Given the description of an element on the screen output the (x, y) to click on. 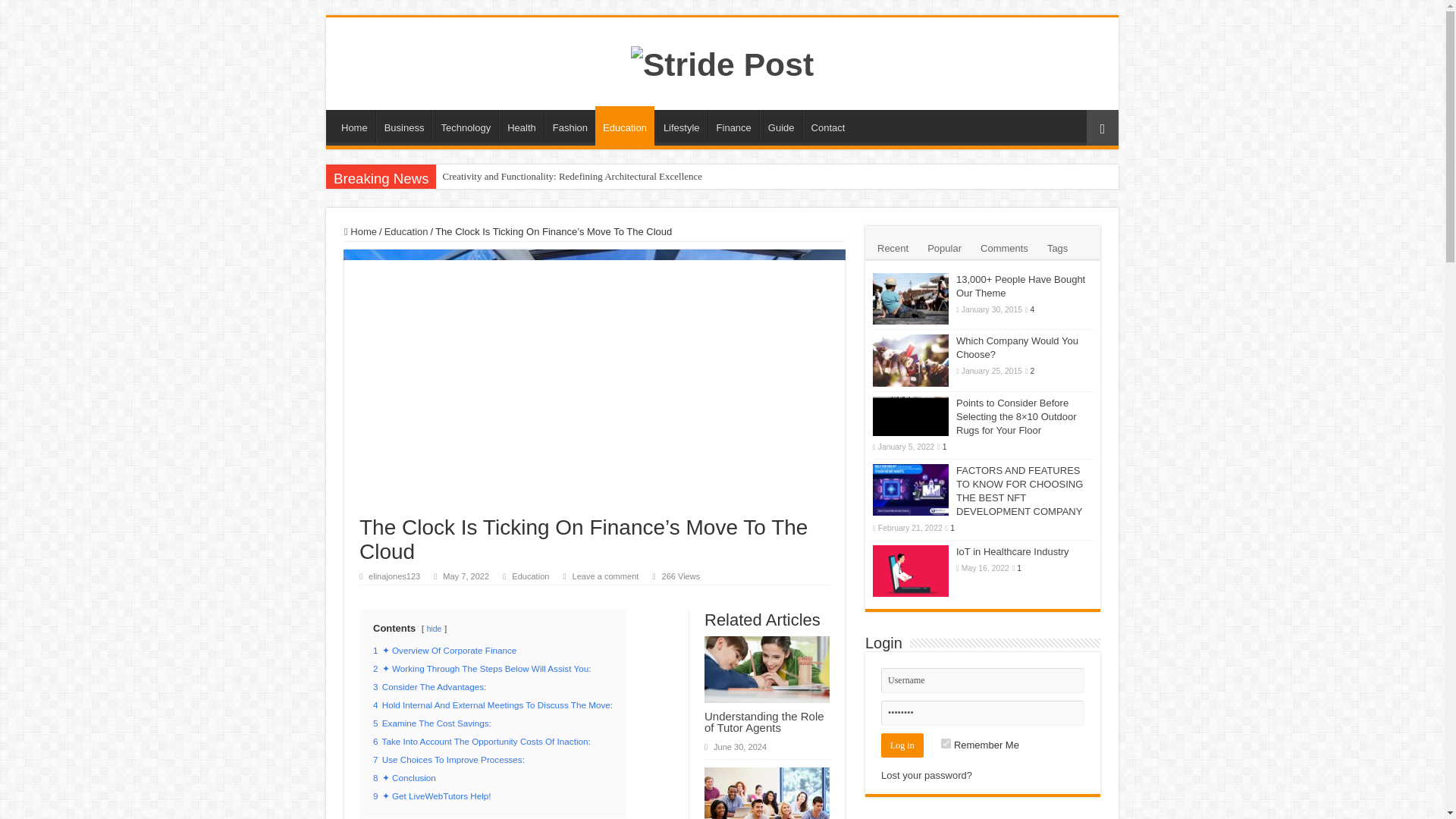
Health (521, 125)
Password (982, 713)
forever (945, 743)
Guide (781, 125)
Leave a comment (605, 575)
Business (403, 125)
Education (624, 125)
Home (360, 231)
Random Article (1102, 127)
Lifestyle (681, 125)
Home (354, 125)
Education (406, 231)
Technology (464, 125)
Education (530, 575)
